Given the description of an element on the screen output the (x, y) to click on. 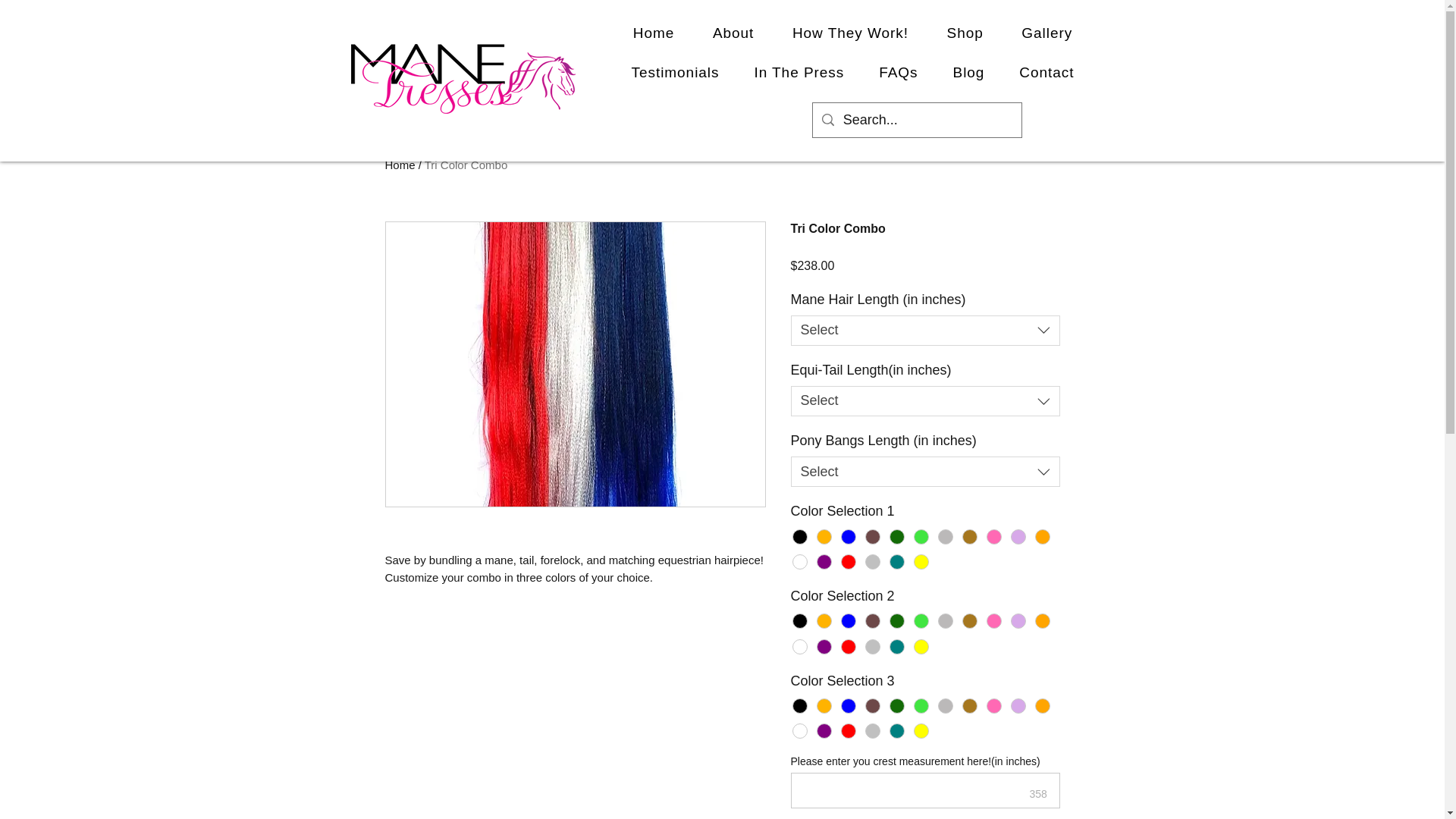
In The Press (799, 72)
Home (399, 164)
Select (924, 400)
Contact (1045, 72)
FAQs (897, 72)
How They Work! (850, 32)
About (733, 32)
Testimonials (675, 72)
Shop (964, 32)
Home (653, 32)
